Given the description of an element on the screen output the (x, y) to click on. 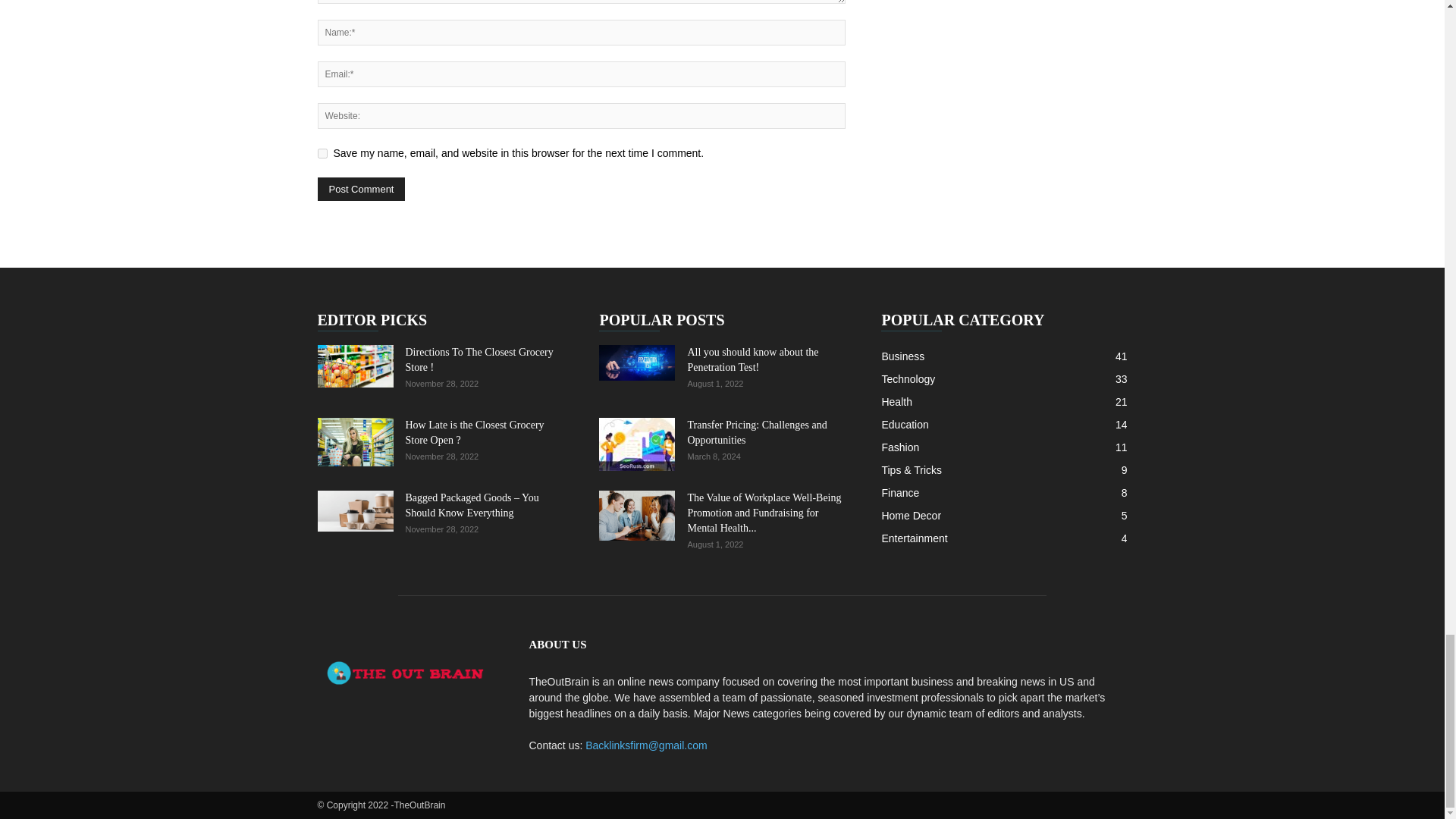
Post Comment (360, 188)
yes (321, 153)
